Given the description of an element on the screen output the (x, y) to click on. 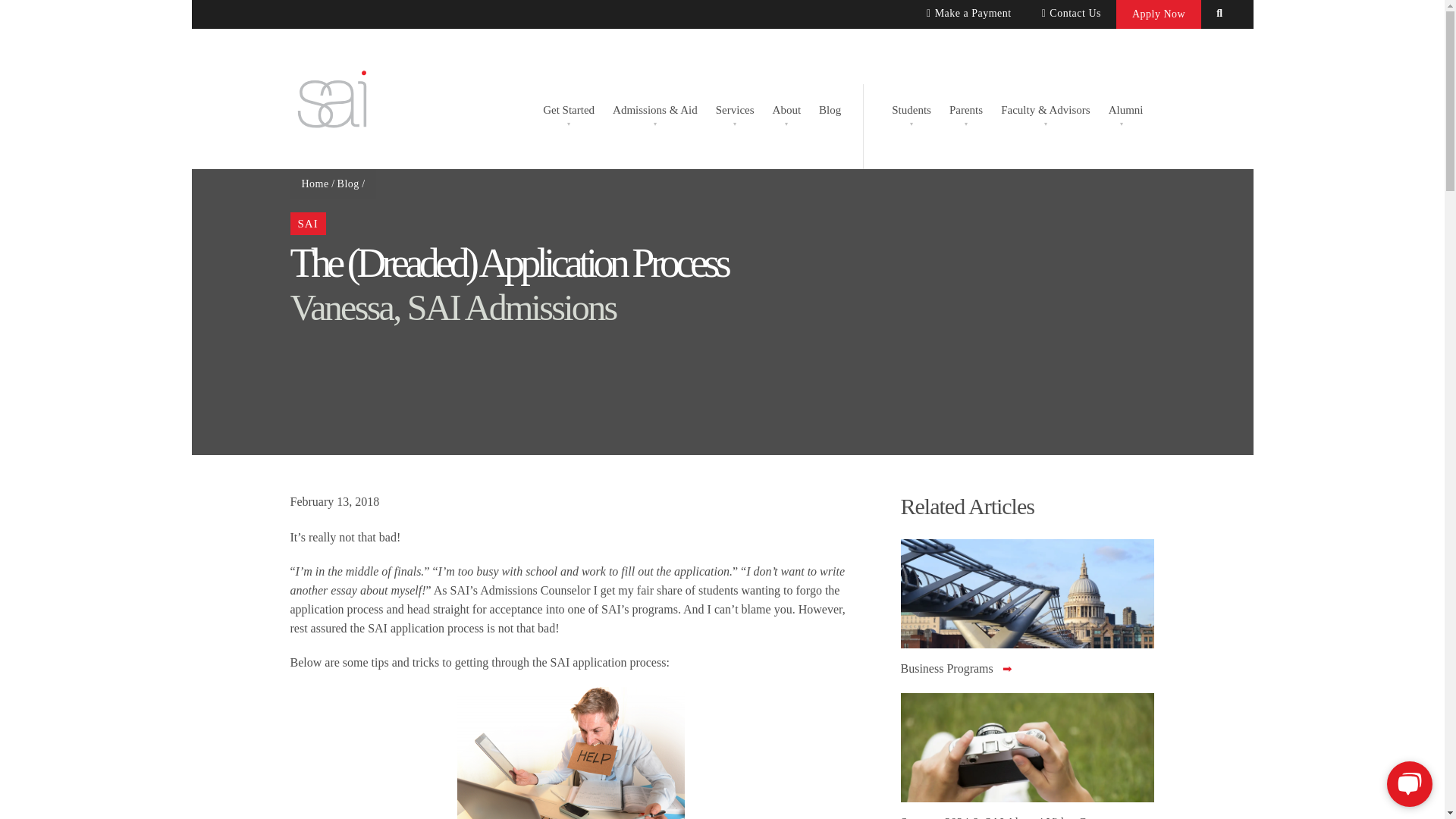
Contact Us (1071, 13)
Get Started (569, 108)
Make a Payment (968, 13)
Apply Now (1158, 14)
